Given the description of an element on the screen output the (x, y) to click on. 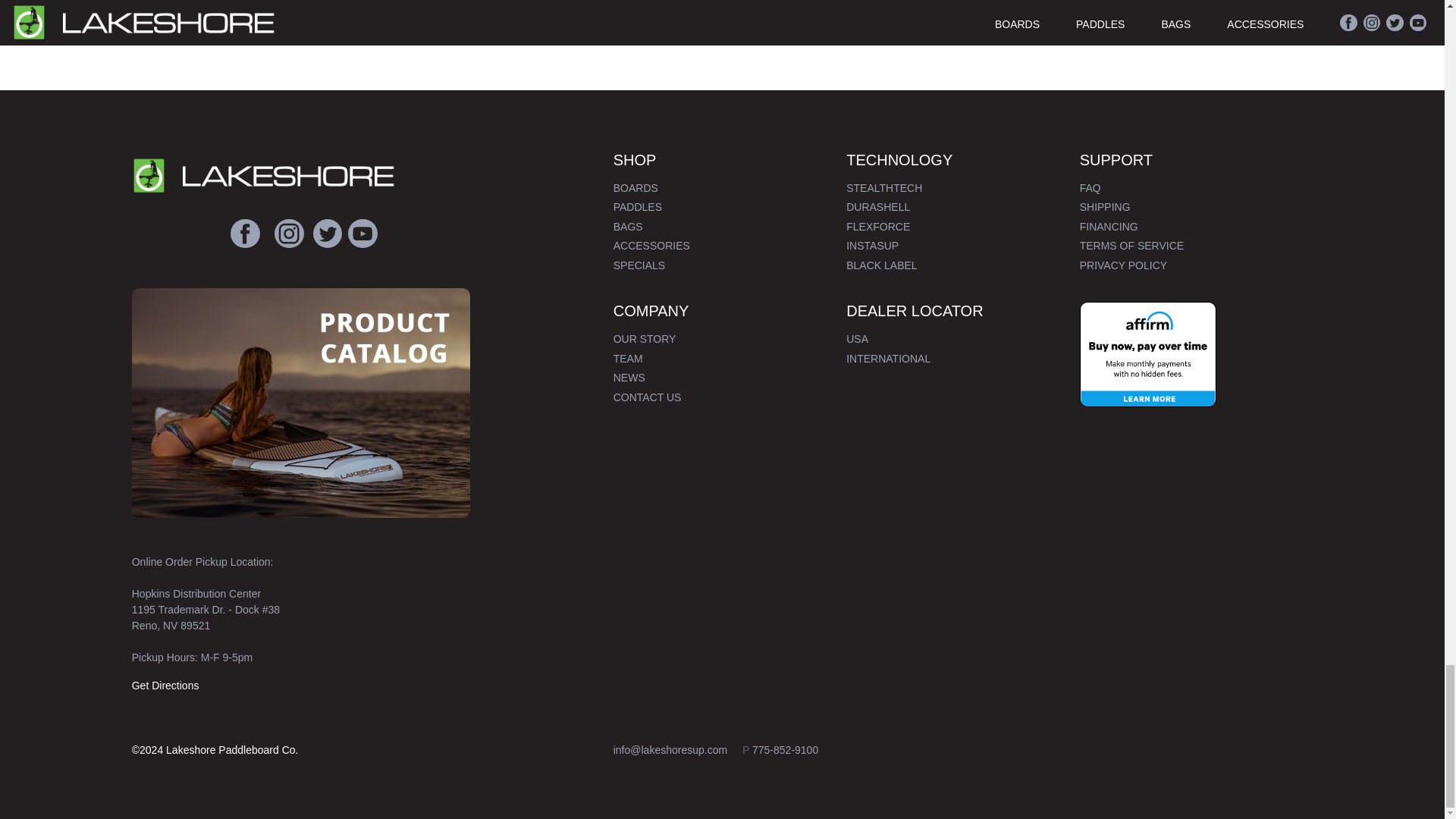
financing (1147, 353)
Product Catalog (301, 403)
Financing Options (1147, 354)
